Given the description of an element on the screen output the (x, y) to click on. 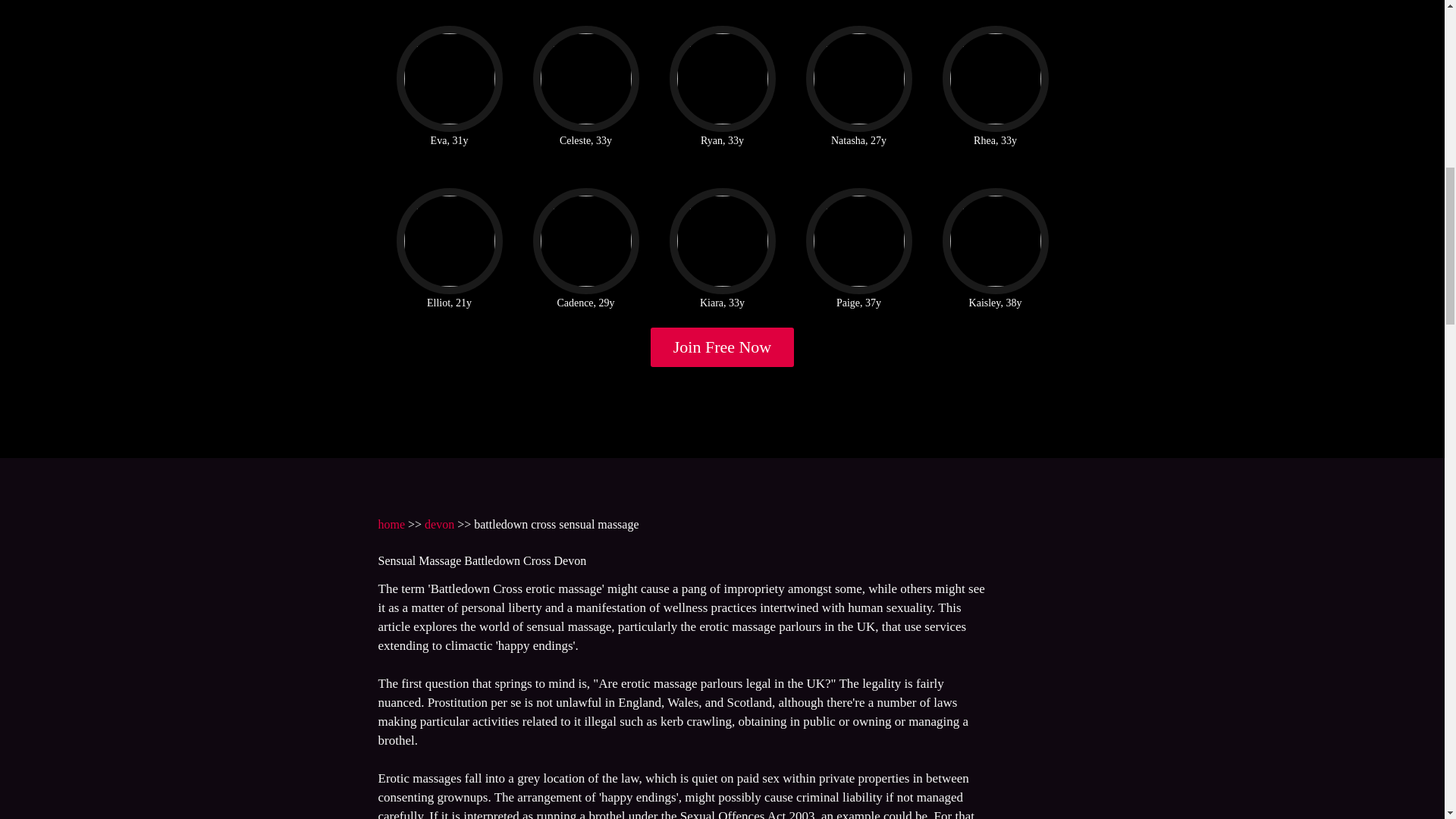
home (390, 523)
devon (439, 523)
Join (722, 346)
Join Free Now (722, 346)
